Given the description of an element on the screen output the (x, y) to click on. 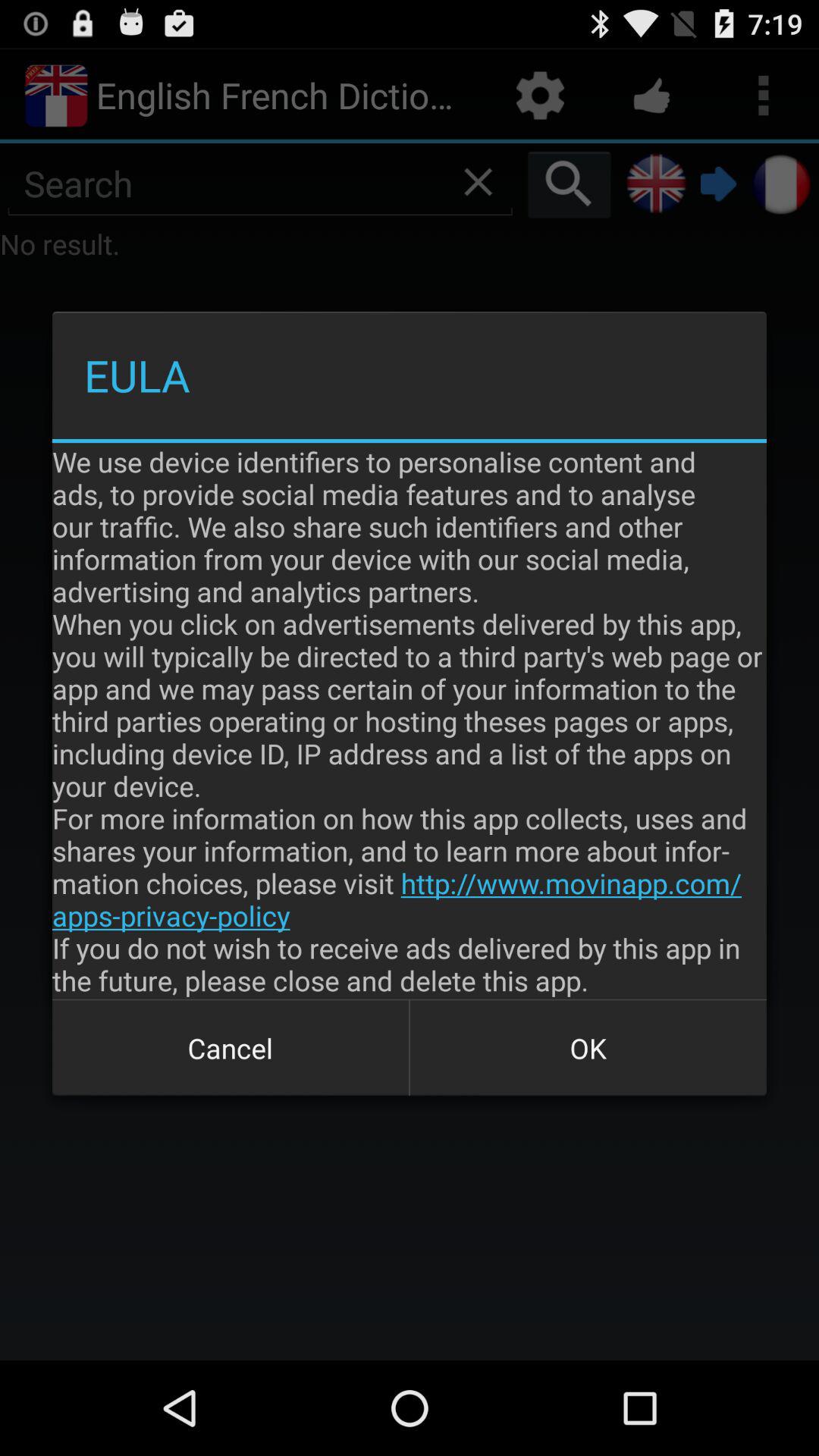
select the ok icon (588, 1047)
